Given the description of an element on the screen output the (x, y) to click on. 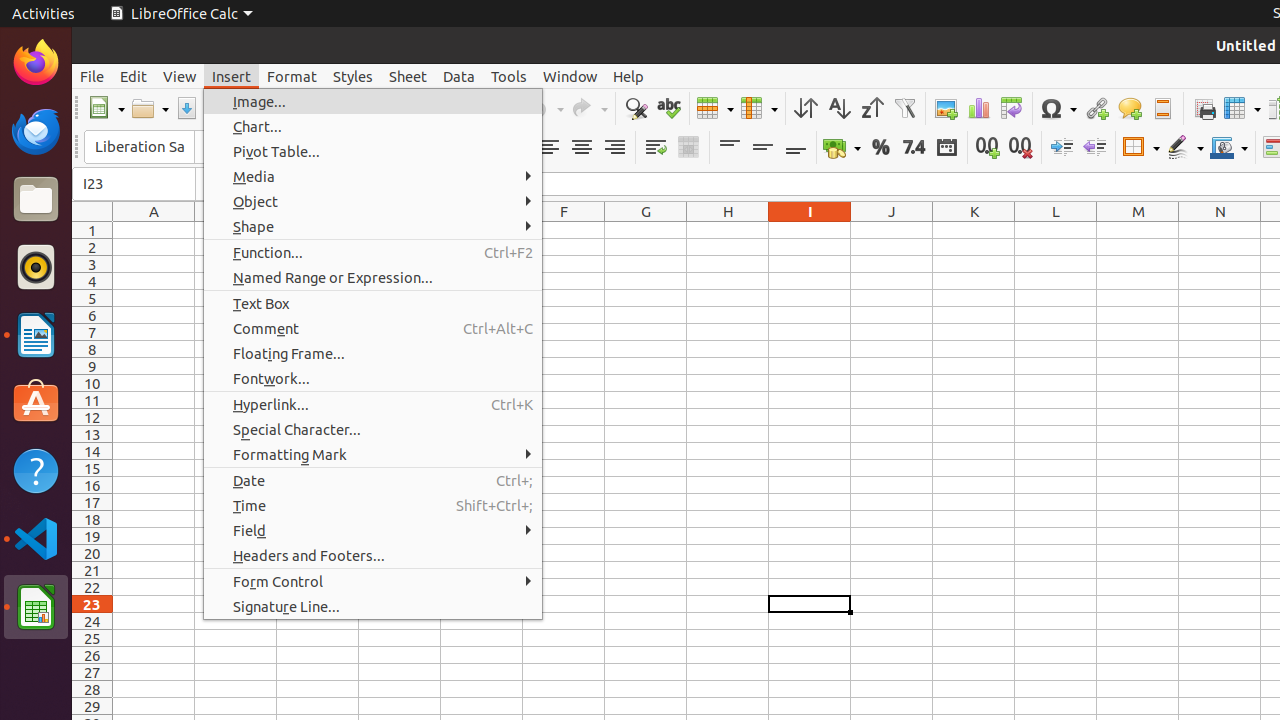
File Element type: menu (92, 76)
H1 Element type: table-cell (728, 230)
Image... Element type: menu-item (373, 101)
A1 Element type: table-cell (154, 230)
Activities Element type: label (43, 13)
